Given the description of an element on the screen output the (x, y) to click on. 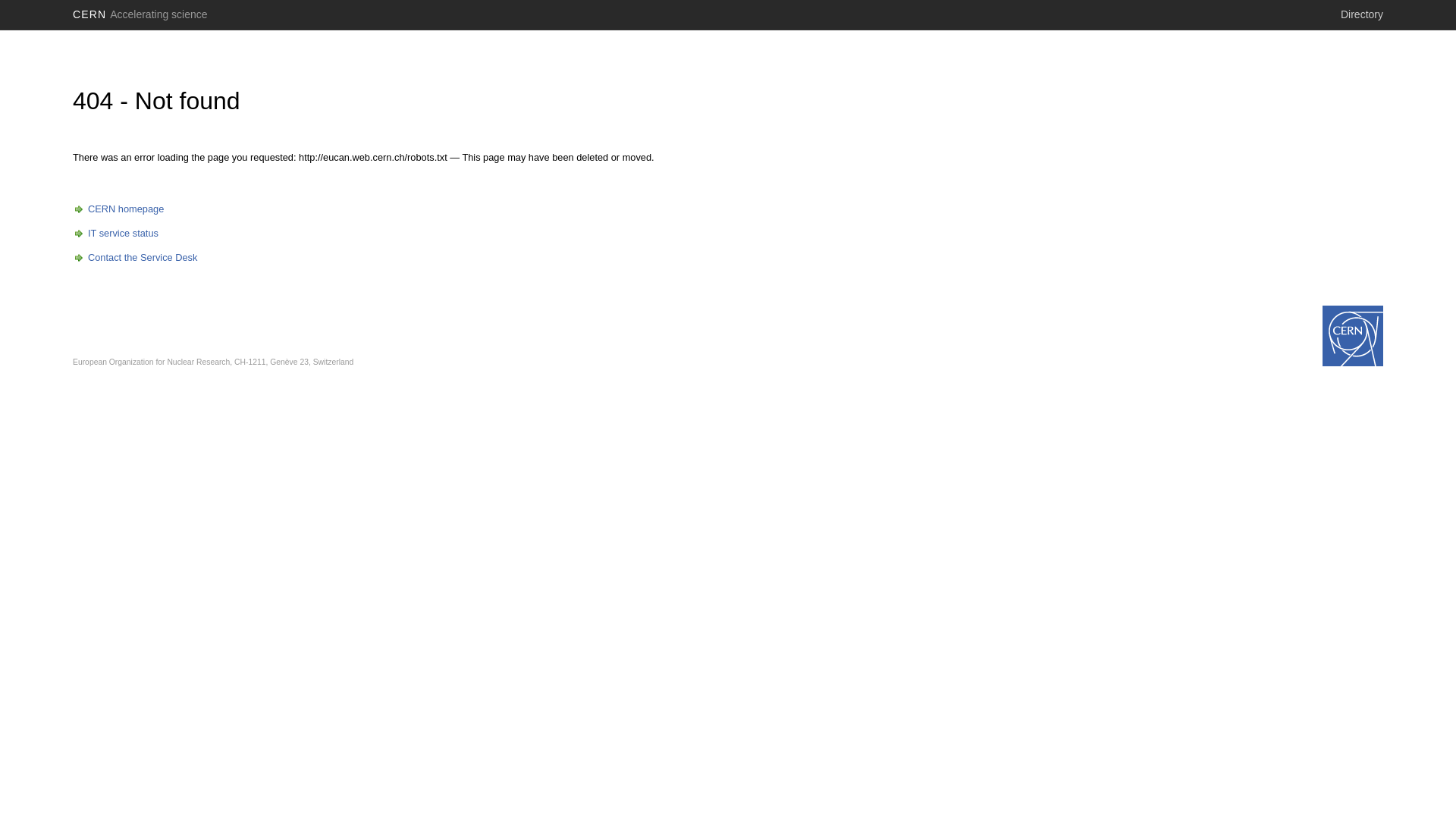
Contact the Service Desk Element type: text (134, 257)
Directory Element type: text (1361, 14)
CERN Accelerating science Element type: text (139, 14)
IT service status Element type: text (115, 232)
CERN homepage Element type: text (117, 208)
www.cern.ch Element type: hover (1352, 335)
